Given the description of an element on the screen output the (x, y) to click on. 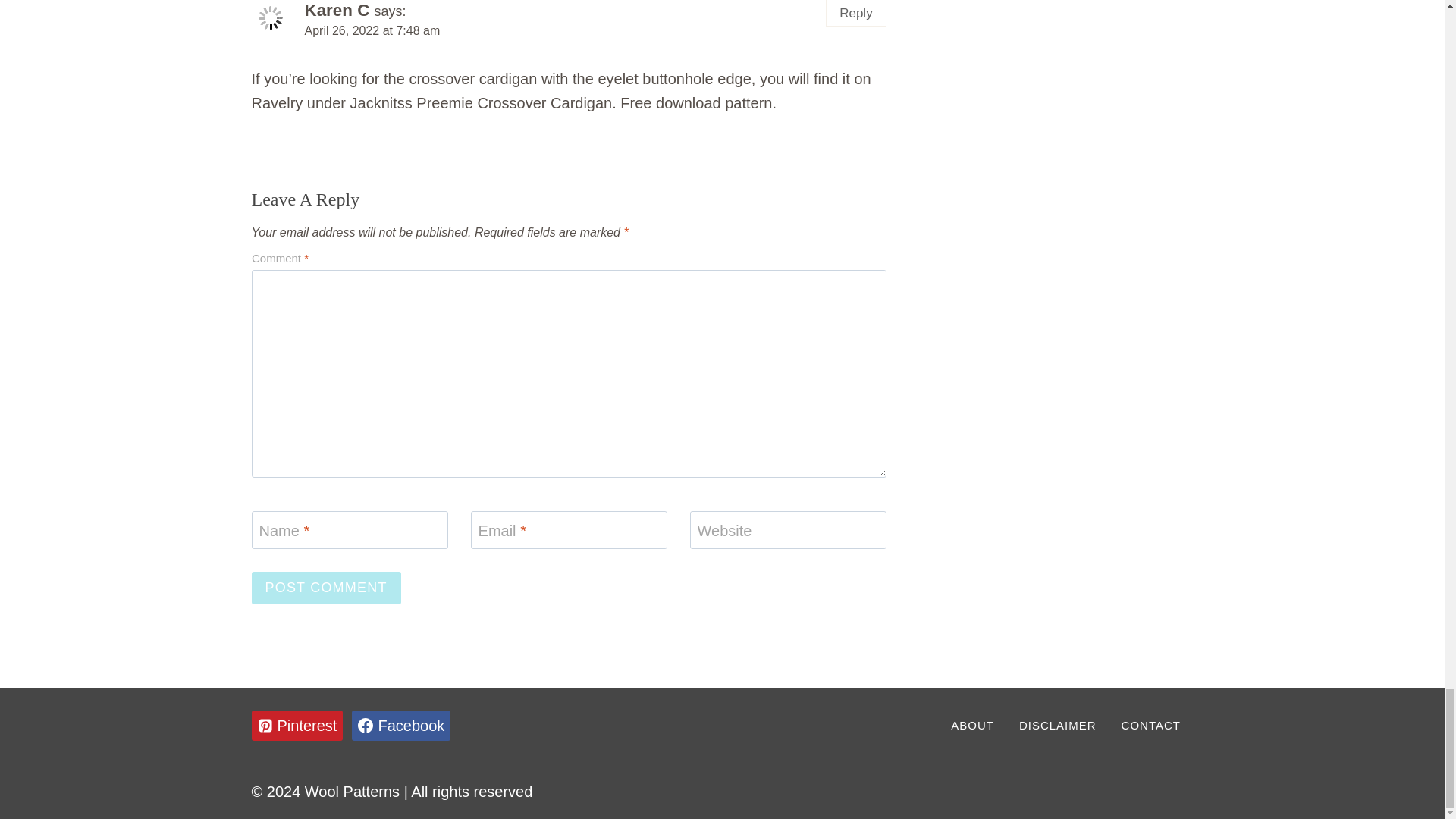
Post Comment (326, 587)
